Given the description of an element on the screen output the (x, y) to click on. 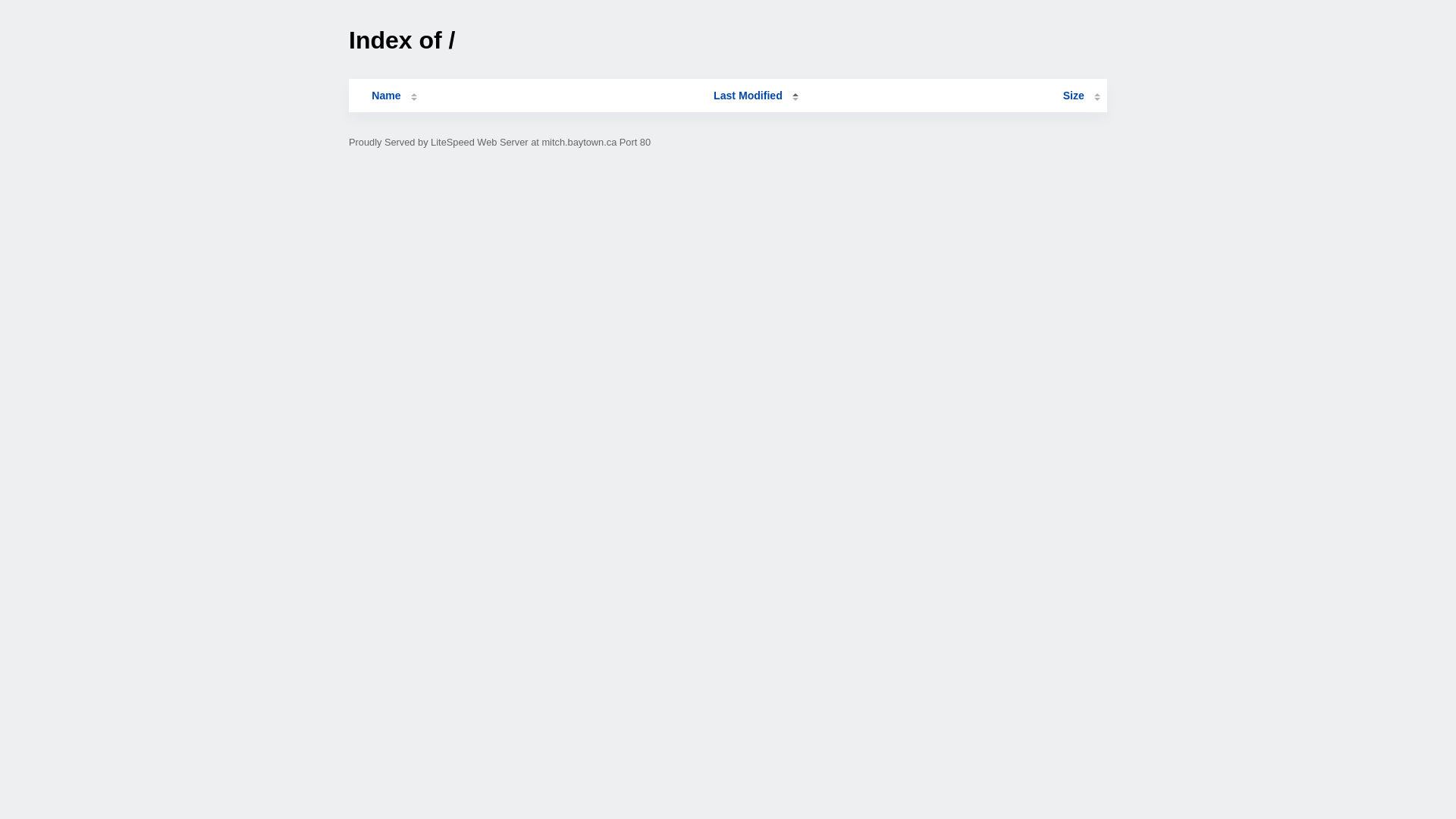
Size Element type: text (1081, 95)
Name Element type: text (385, 95)
Last Modified Element type: text (755, 95)
